Given the description of an element on the screen output the (x, y) to click on. 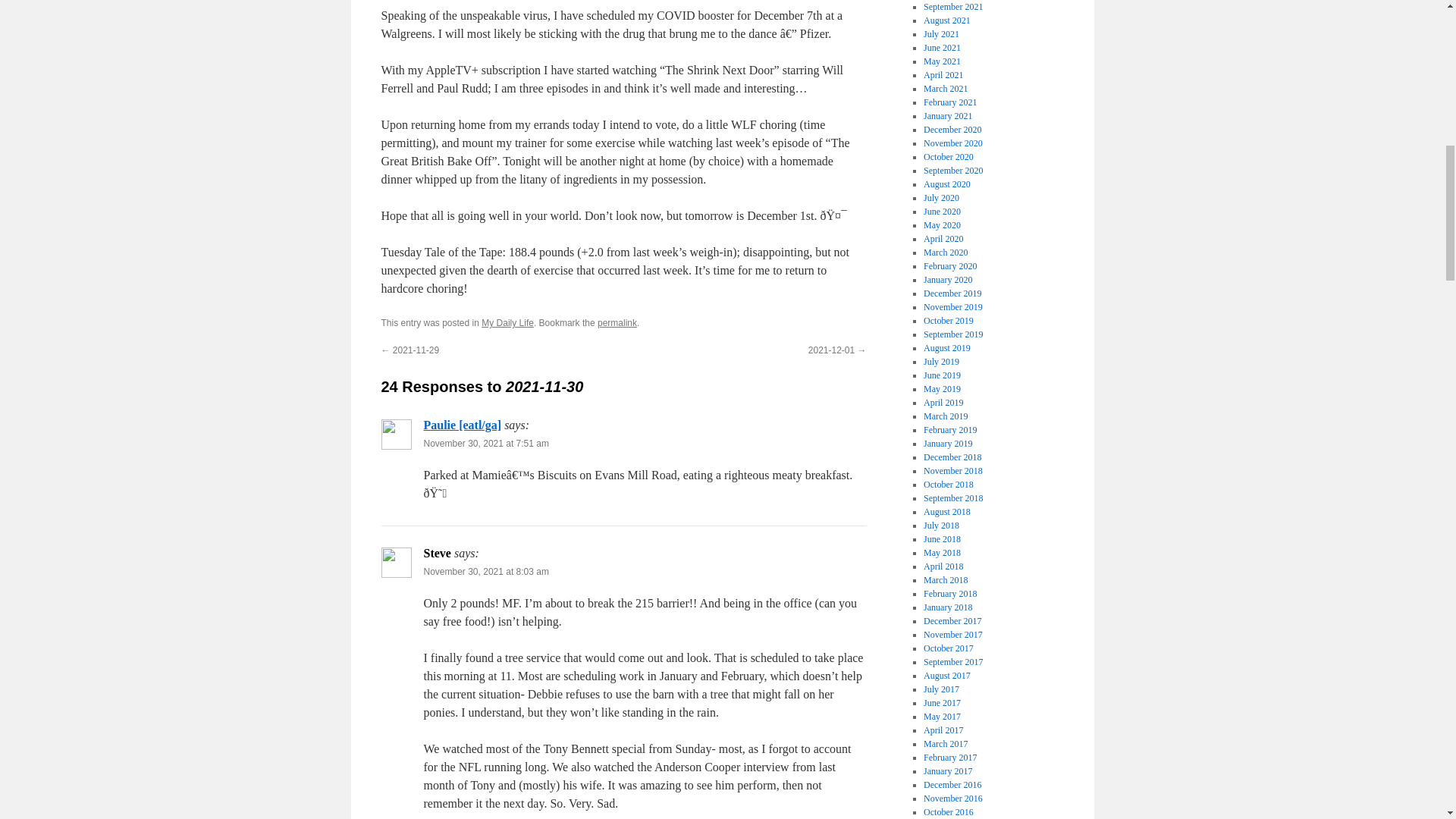
November 30, 2021 at 7:51 am (485, 443)
Permalink to 2021-11-30 (616, 322)
permalink (616, 322)
My Daily Life (507, 322)
November 30, 2021 at 8:03 am (485, 571)
